Given the description of an element on the screen output the (x, y) to click on. 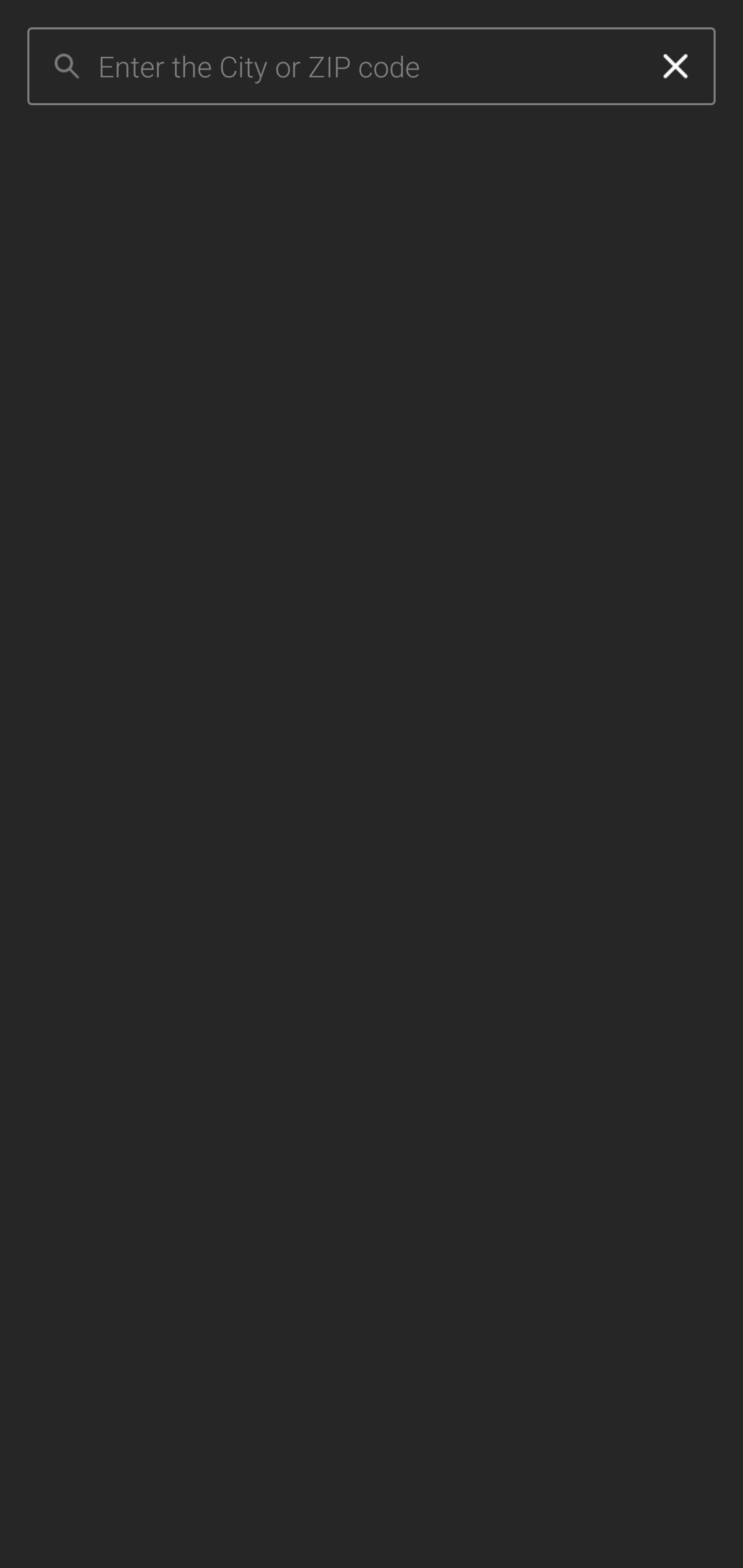
Enter the City or ZIP code (367, 66)
